Given the description of an element on the screen output the (x, y) to click on. 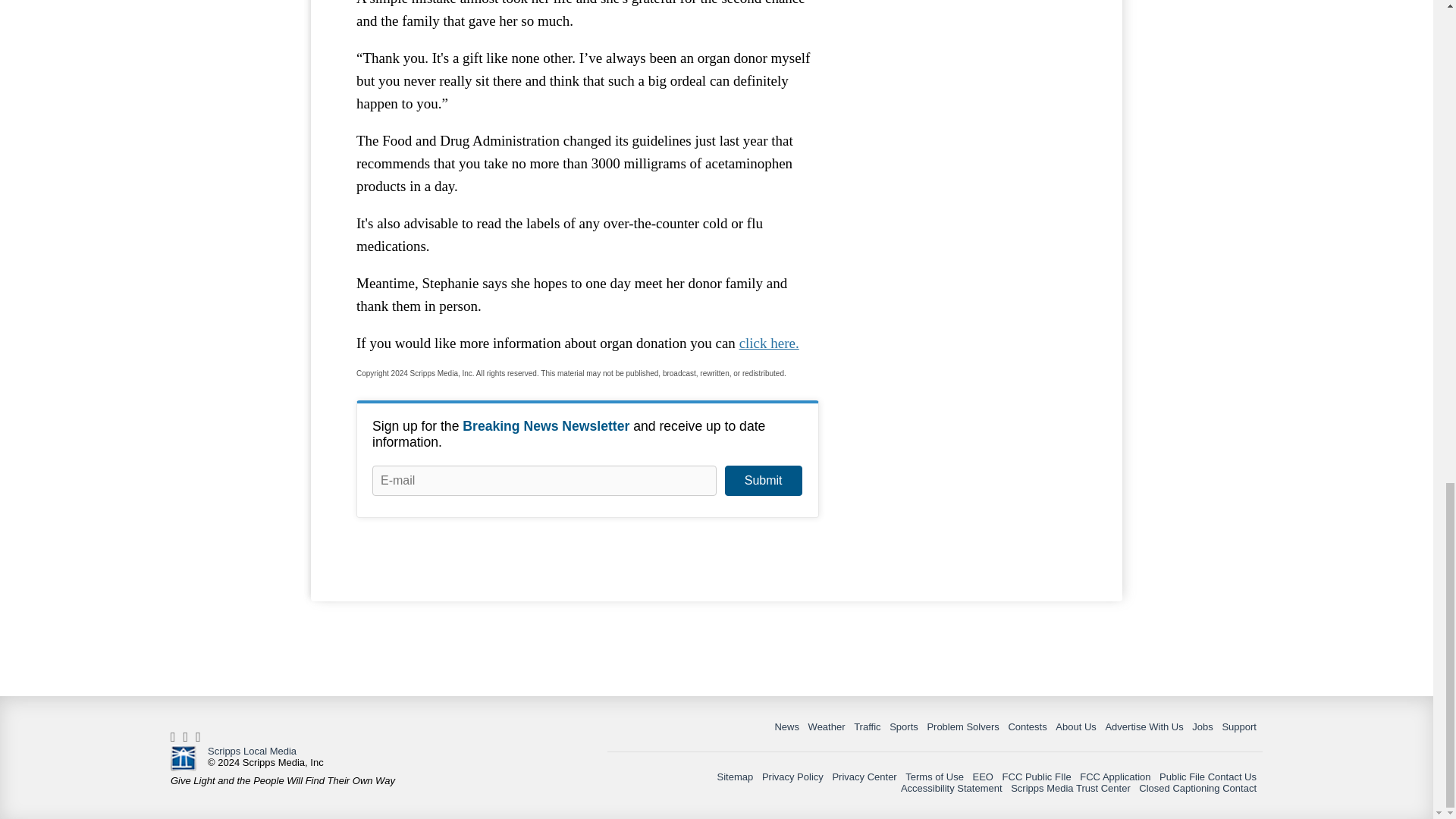
Submit (763, 481)
